Given the description of an element on the screen output the (x, y) to click on. 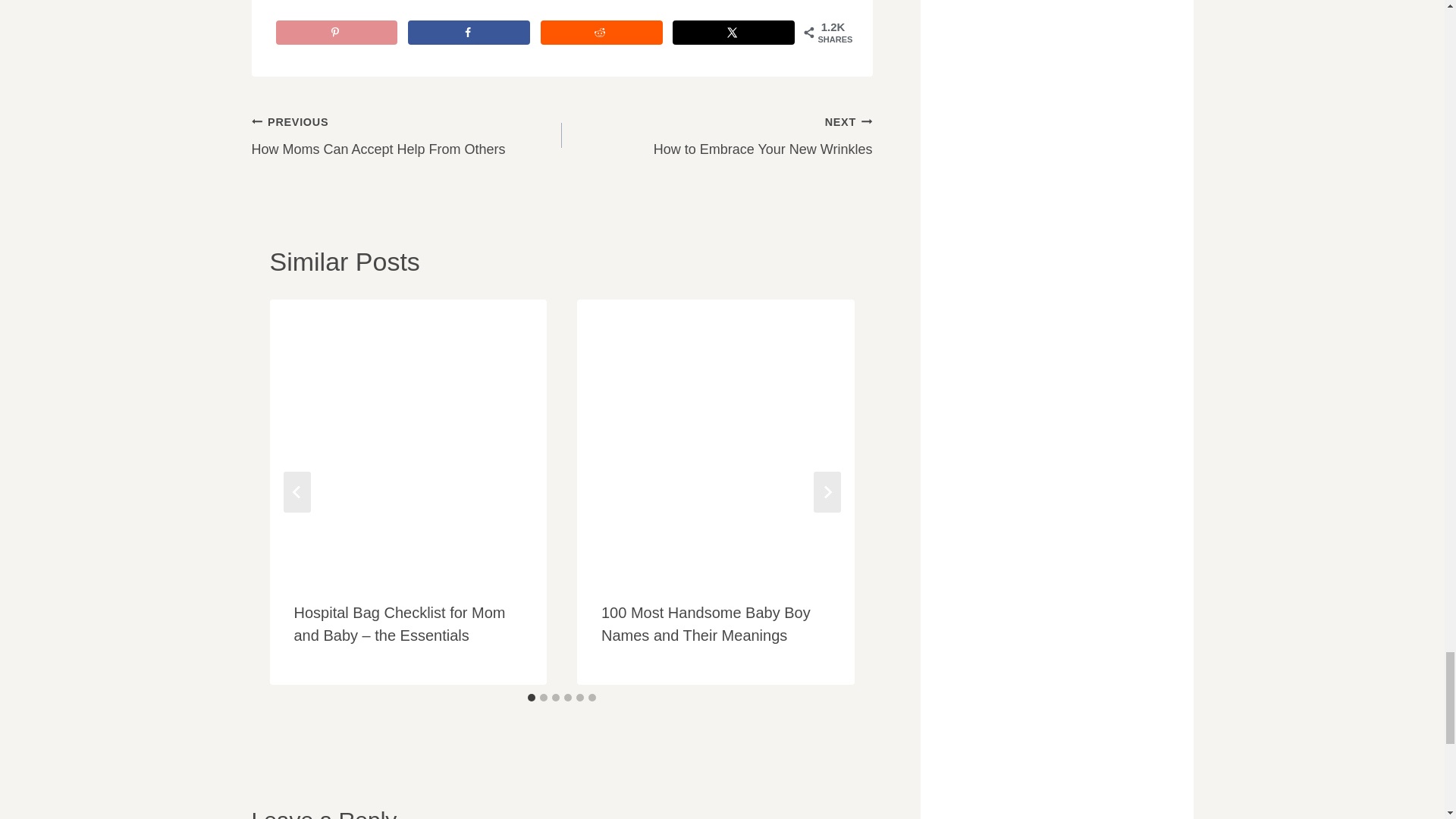
Share on Reddit (601, 32)
Share on Facebook (468, 32)
Save to Pinterest (336, 32)
Share on X (733, 32)
